Given the description of an element on the screen output the (x, y) to click on. 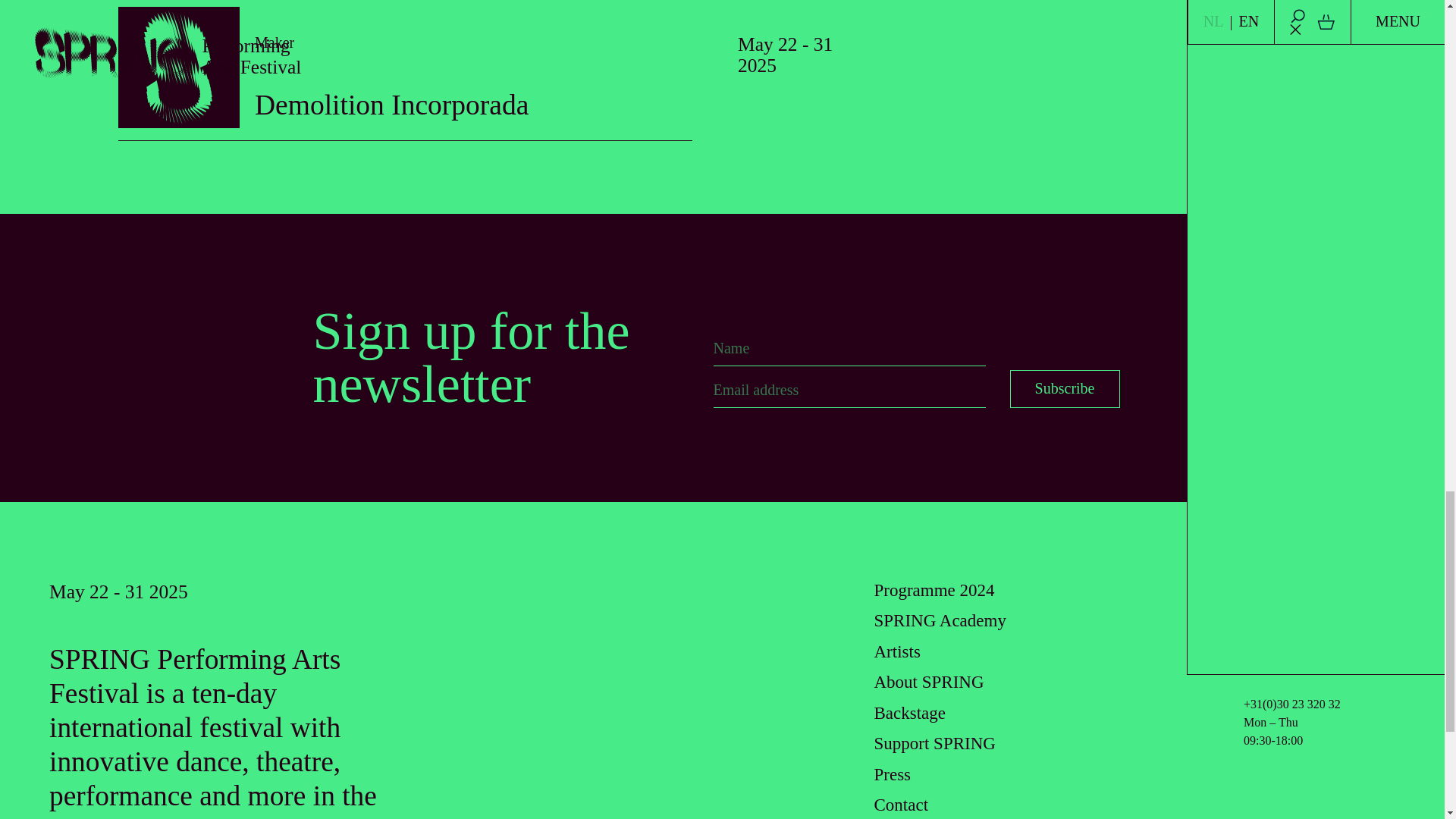
Backstage (908, 712)
SPRING Academy (939, 619)
About SPRING (928, 681)
Archive (1271, 589)
Artists (896, 651)
Contact (900, 804)
Programme 2024 (405, 76)
Support SPRING (933, 589)
Subscribe (933, 742)
Subscribe (1064, 388)
Press (1064, 388)
